Given the description of an element on the screen output the (x, y) to click on. 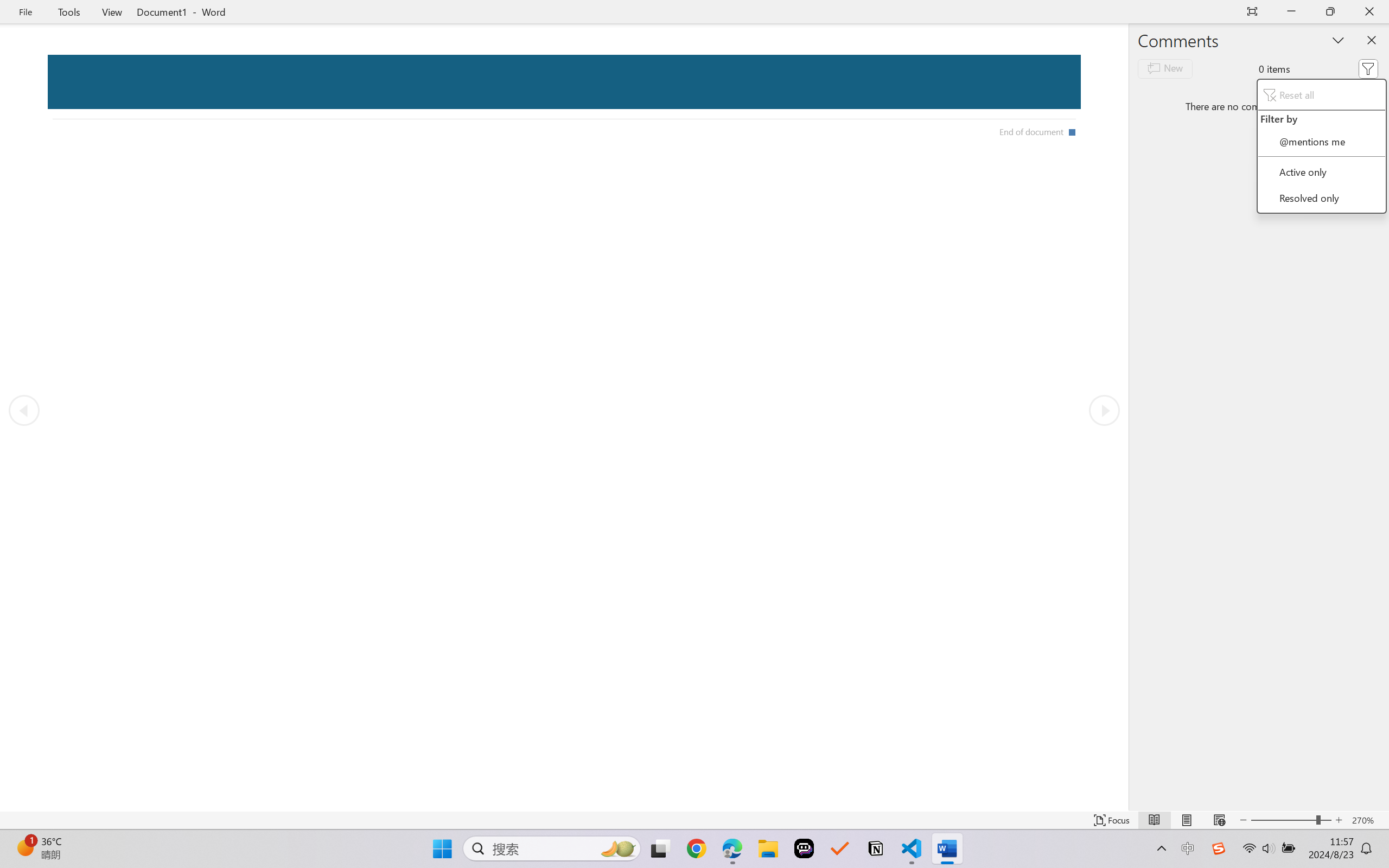
Decrease Text Size (1243, 819)
Resolved only (1321, 197)
